Given the description of an element on the screen output the (x, y) to click on. 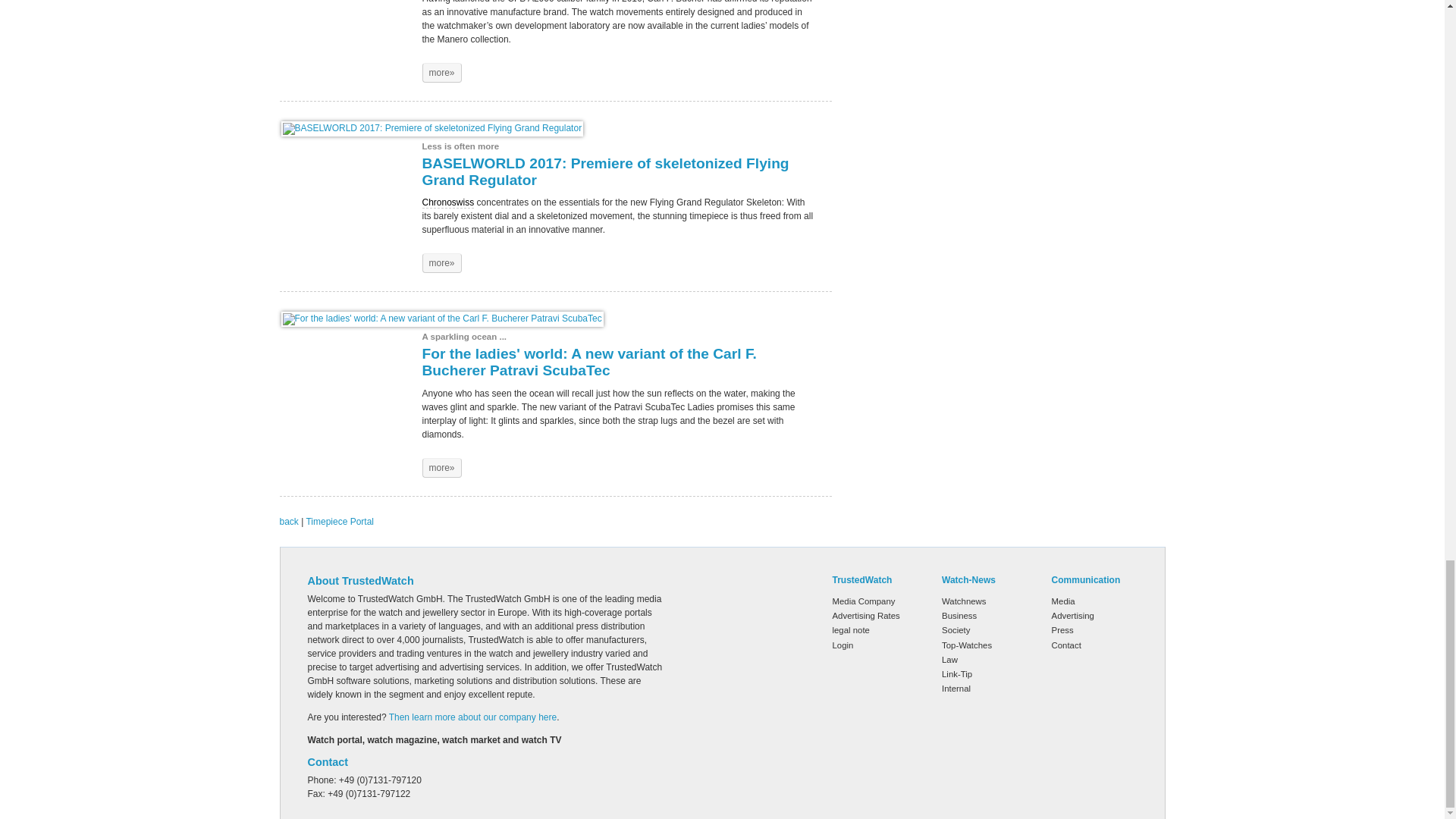
The new Manero Peripheral models by Carl F. Bucherer  (441, 72)
